Given the description of an element on the screen output the (x, y) to click on. 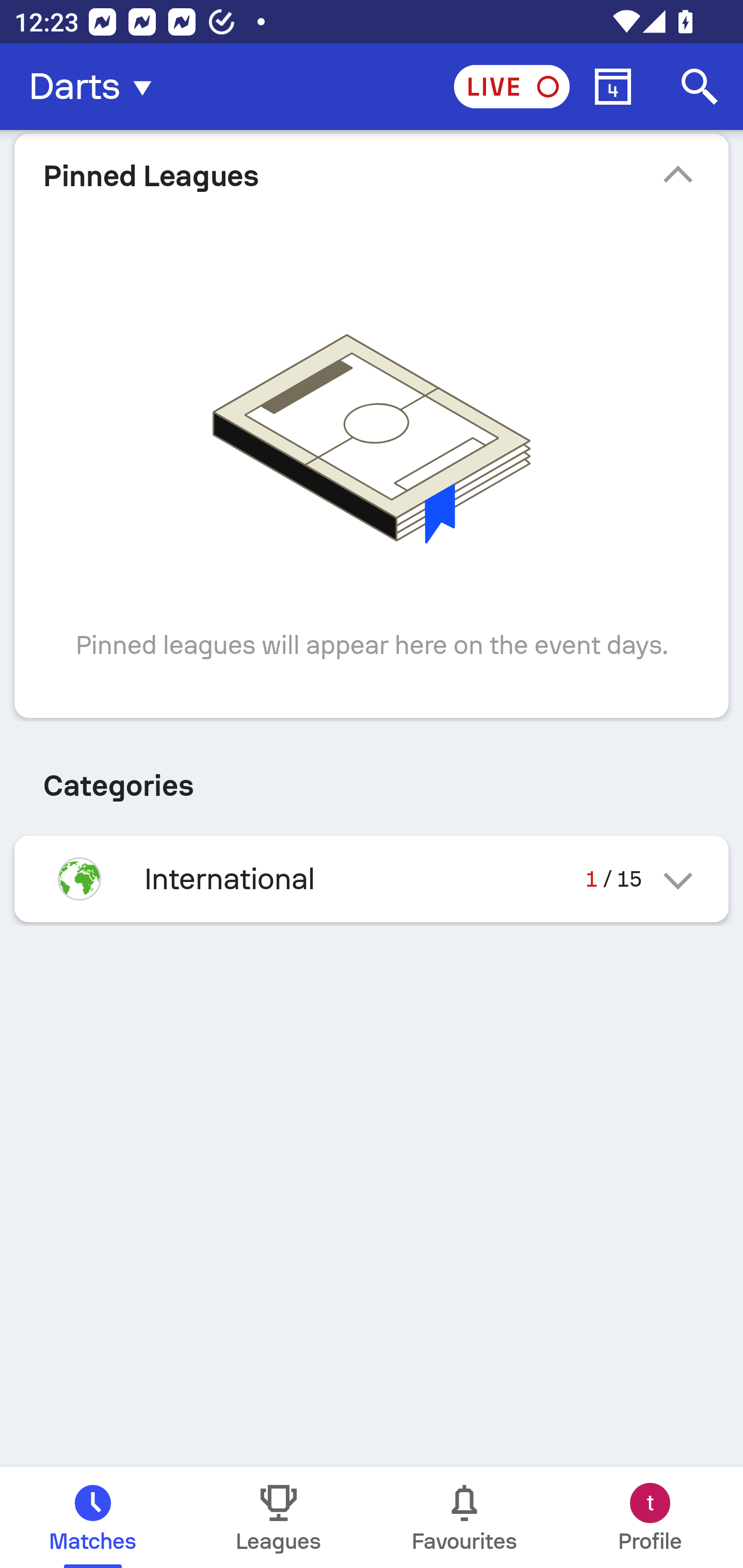
Darts (96, 86)
Calendar (612, 86)
Search (699, 86)
Pinned Leagues (371, 175)
Pinned leagues will appear here on the event days. (371, 469)
Categories (371, 778)
International 1 / 15 (371, 878)
Leagues (278, 1517)
Favourites (464, 1517)
Profile (650, 1517)
